Given the description of an element on the screen output the (x, y) to click on. 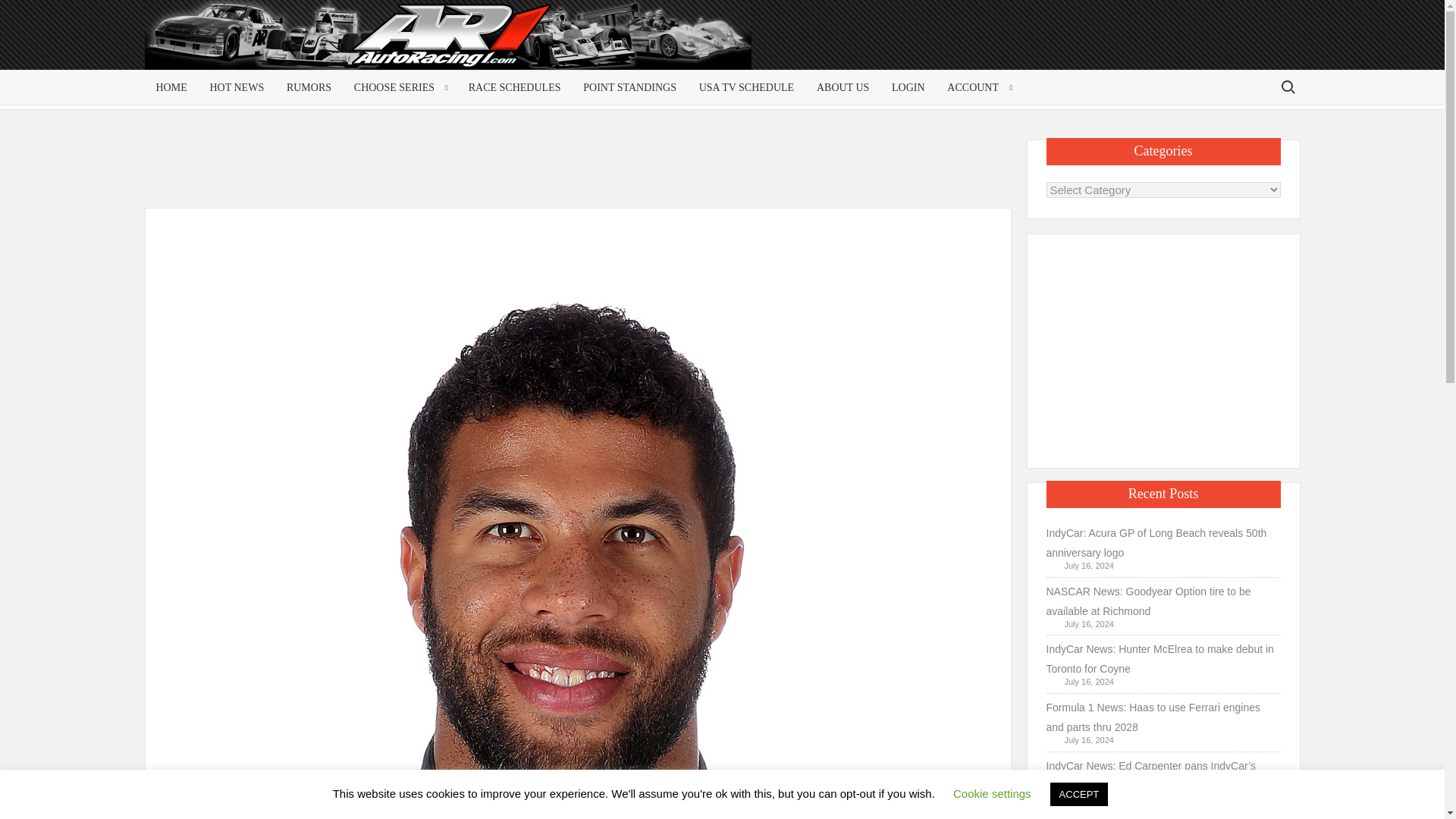
Advertisement (1178, 46)
Advertisement (1162, 348)
HOME (171, 87)
CHOOSE SERIES (399, 87)
Advertisement (580, 173)
RUMORS (308, 87)
HOT NEWS (236, 87)
AUTORACING1.COM (289, 40)
